Given the description of an element on the screen output the (x, y) to click on. 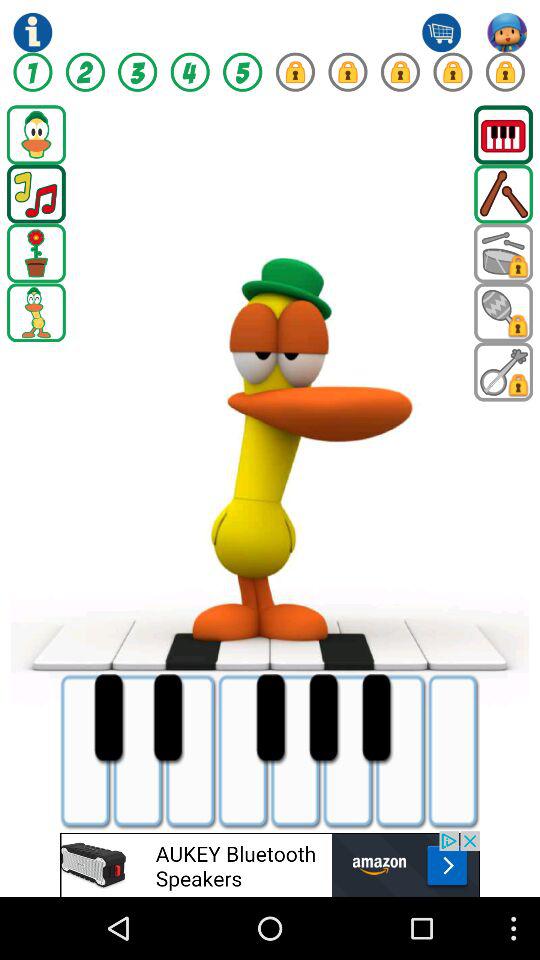
emoji (270, 864)
